Given the description of an element on the screen output the (x, y) to click on. 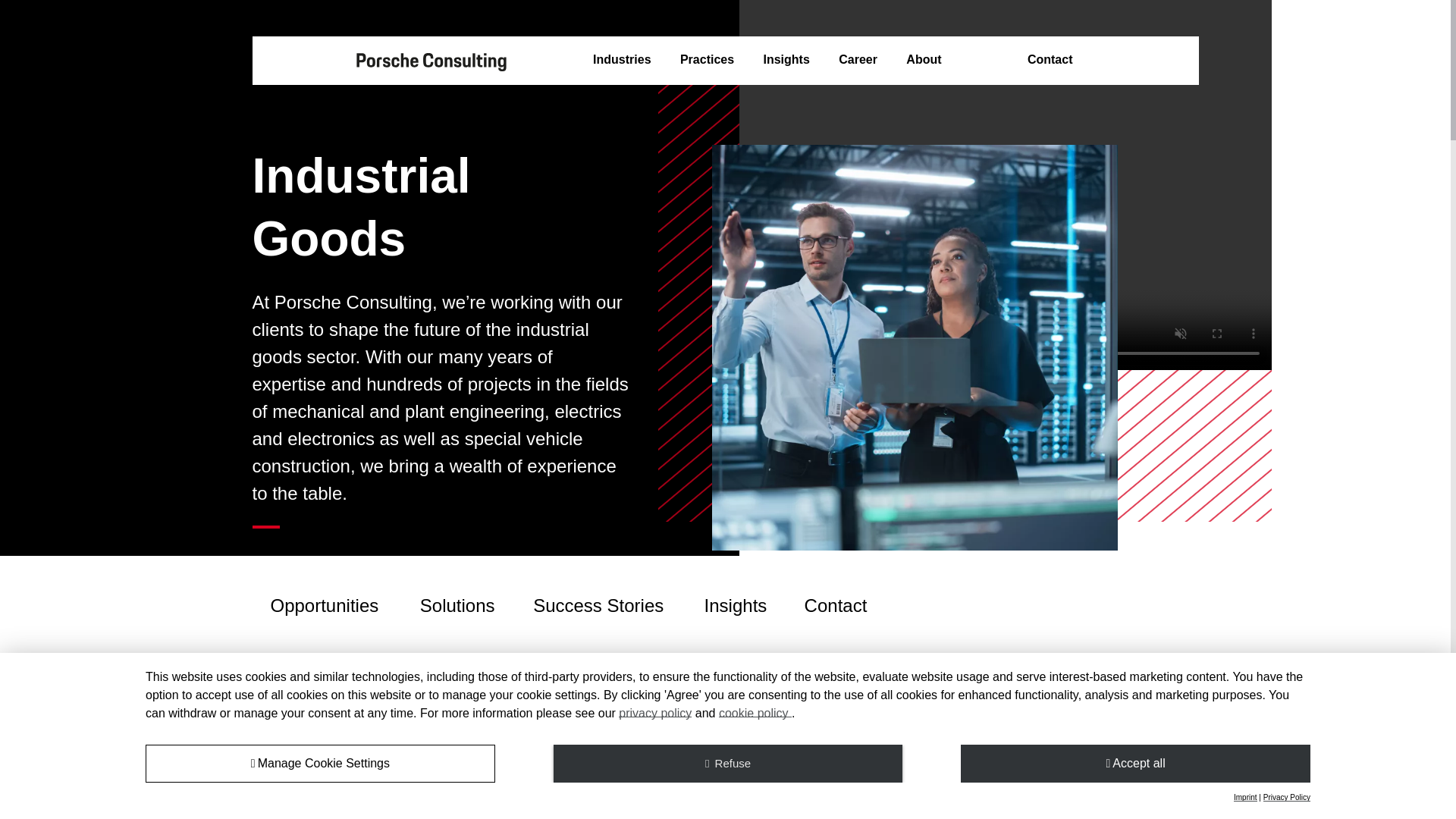
Insights (785, 60)
Contact (1050, 60)
Career (857, 60)
About (922, 60)
Practices (706, 60)
Industries (621, 60)
